Given the description of an element on the screen output the (x, y) to click on. 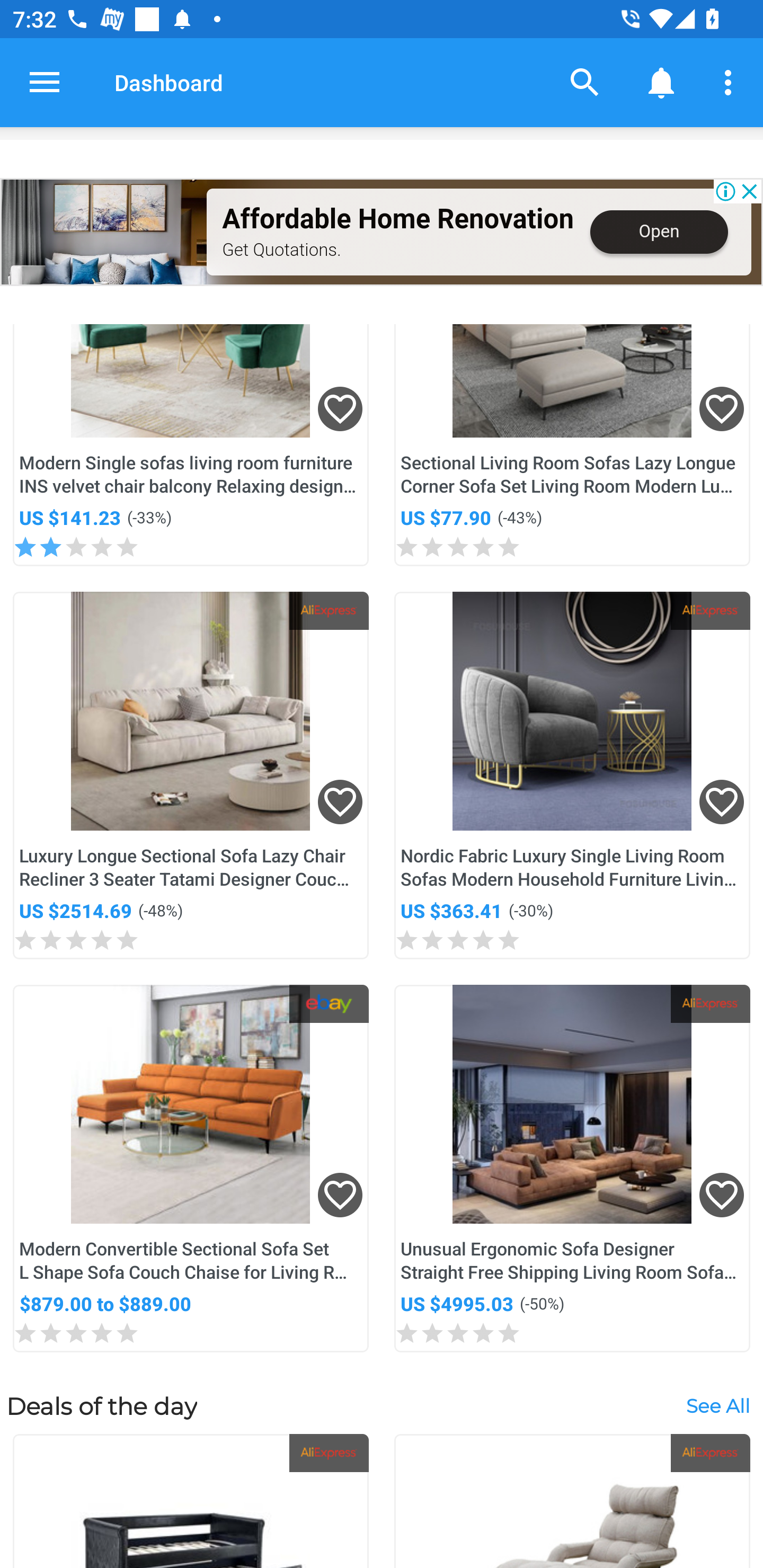
Open navigation drawer (44, 82)
Search (585, 81)
More options (731, 81)
free-quote (104, 231)
Affordable Home Renovation (397, 219)
Open (658, 232)
Get Quotations. (281, 249)
See All (717, 1405)
